Given the description of an element on the screen output the (x, y) to click on. 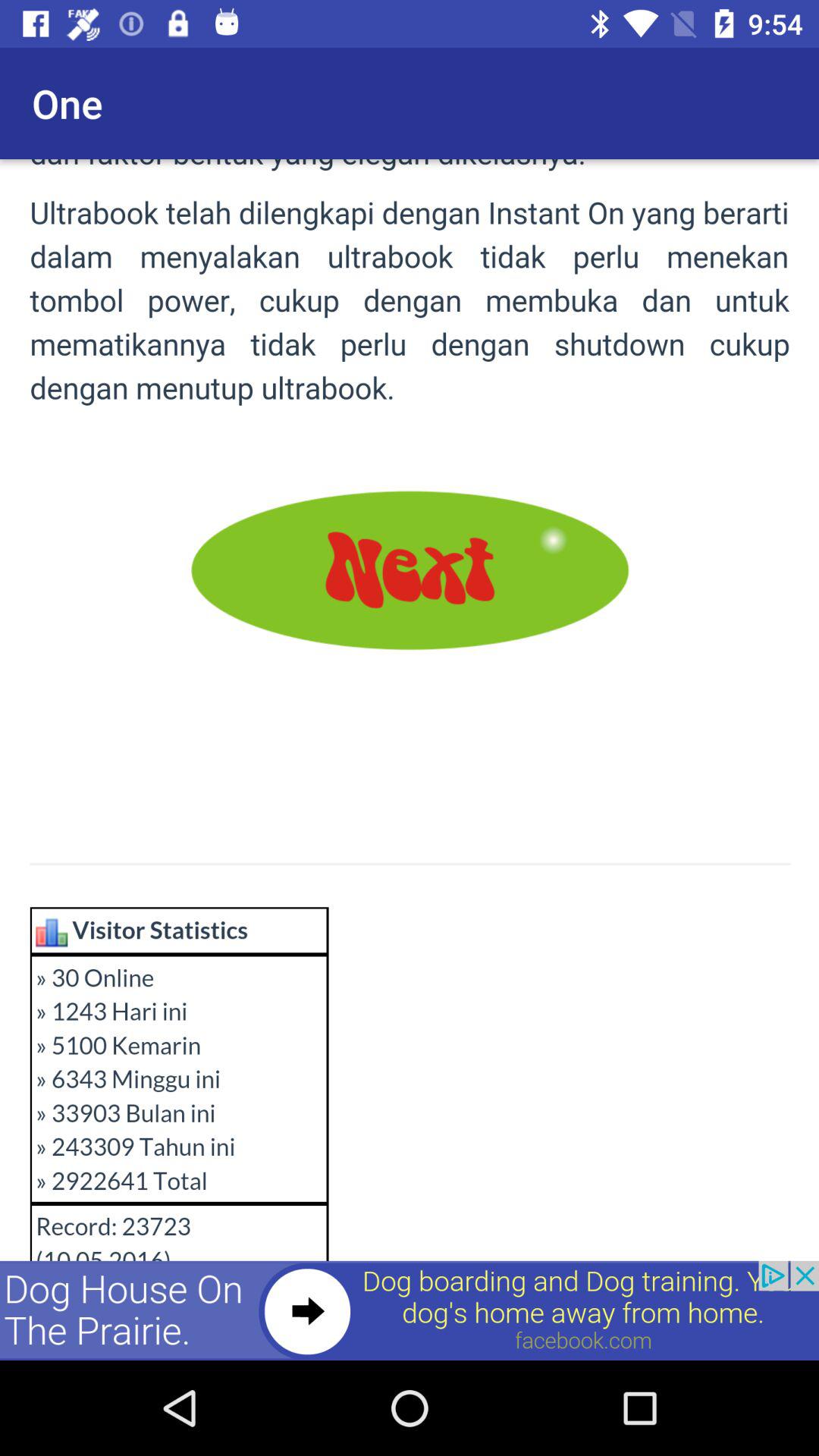
go to next page (409, 759)
